Given the description of an element on the screen output the (x, y) to click on. 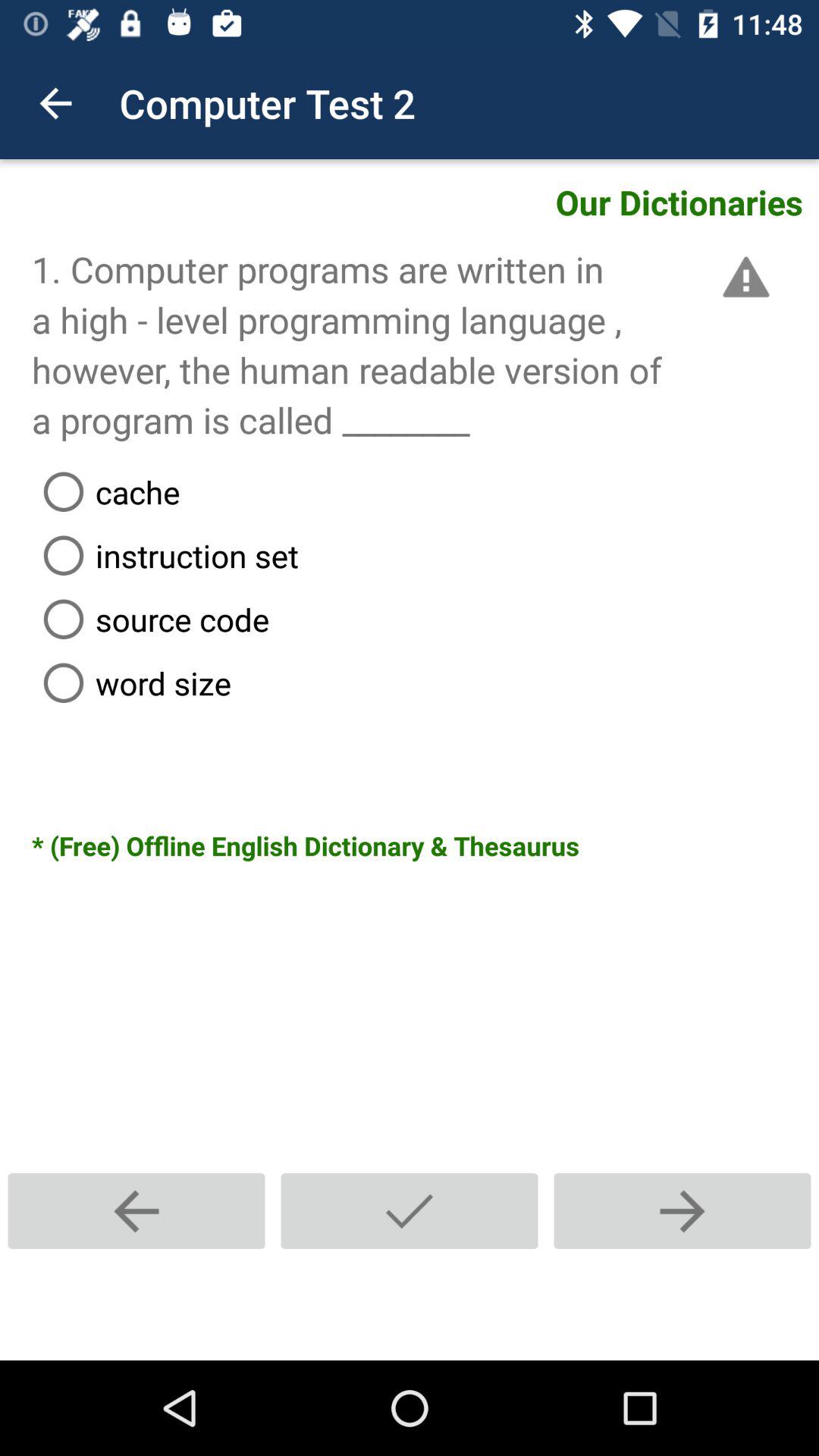
go to the next text question (682, 1210)
